Given the description of an element on the screen output the (x, y) to click on. 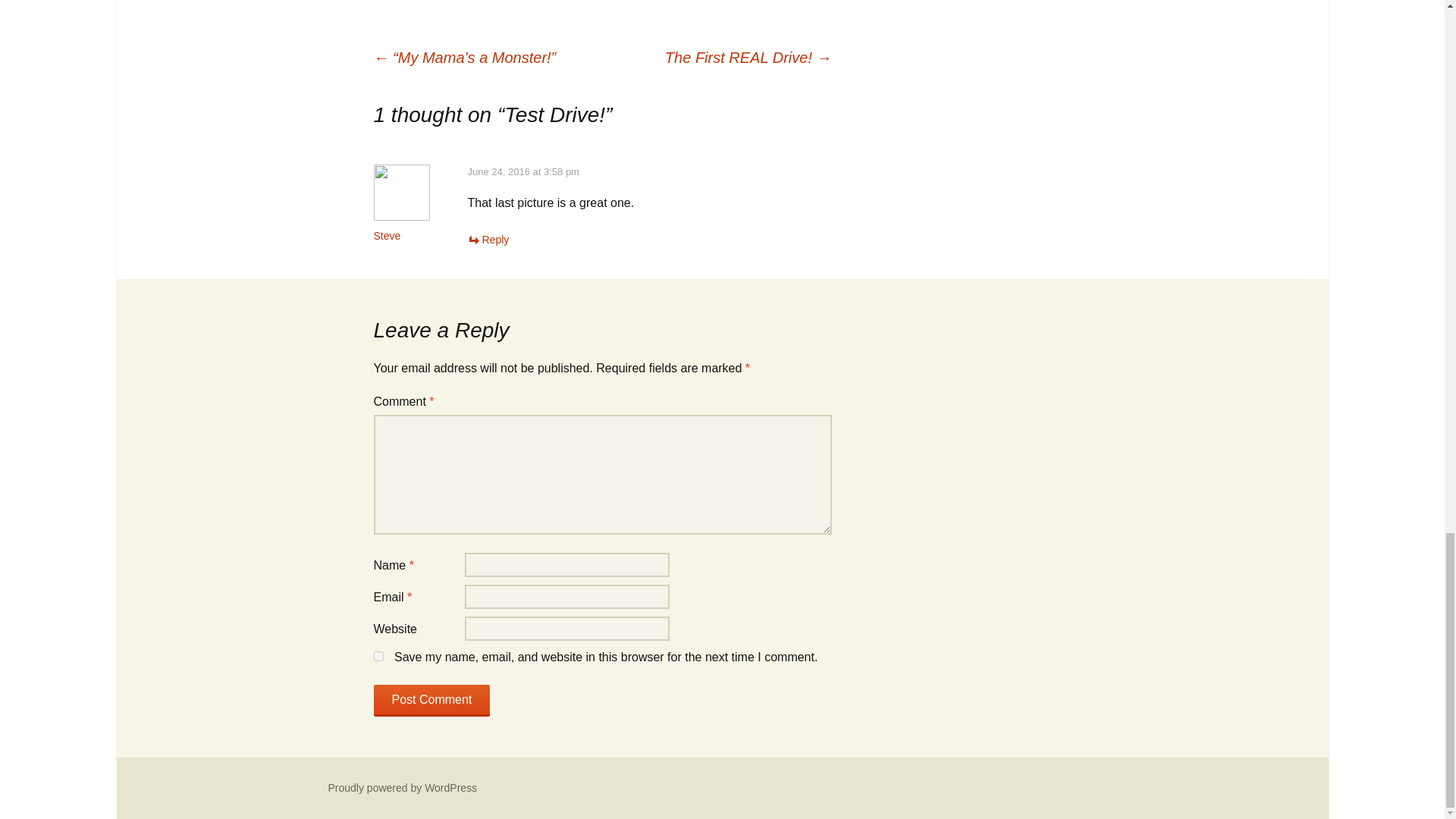
Post Comment (430, 700)
Reply (487, 239)
Post Comment (430, 700)
June 24, 2016 at 3:58 pm (522, 171)
yes (377, 655)
